Given the description of an element on the screen output the (x, y) to click on. 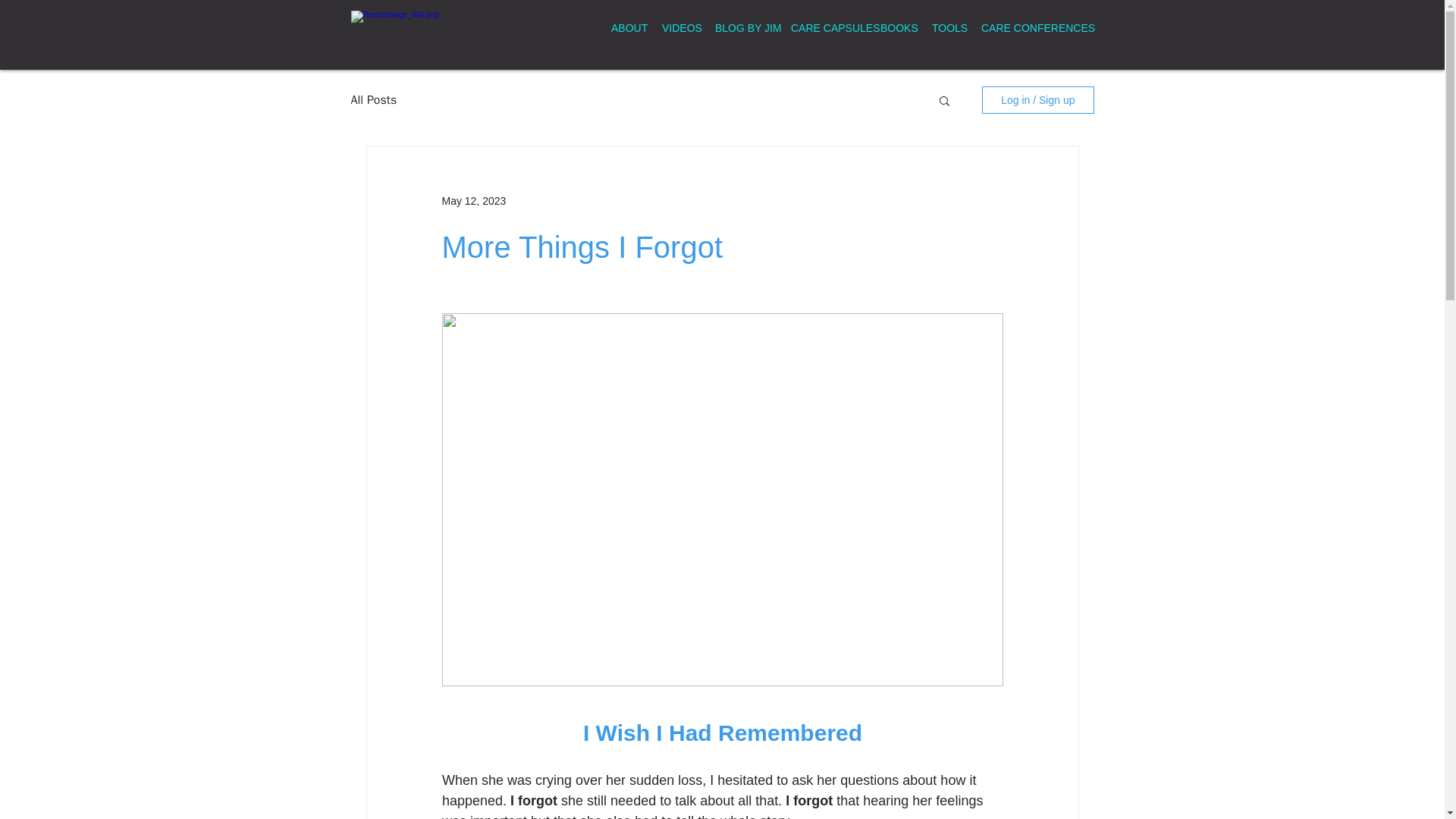
ABOUT (624, 28)
VIDEOS (676, 28)
BOOKS (894, 28)
TOOLS (944, 28)
CARE CONFERENCES (1023, 28)
All Posts (373, 100)
May 12, 2023 (473, 200)
BLOG BY JIM (740, 28)
CARE CAPSULES (823, 28)
